Given the description of an element on the screen output the (x, y) to click on. 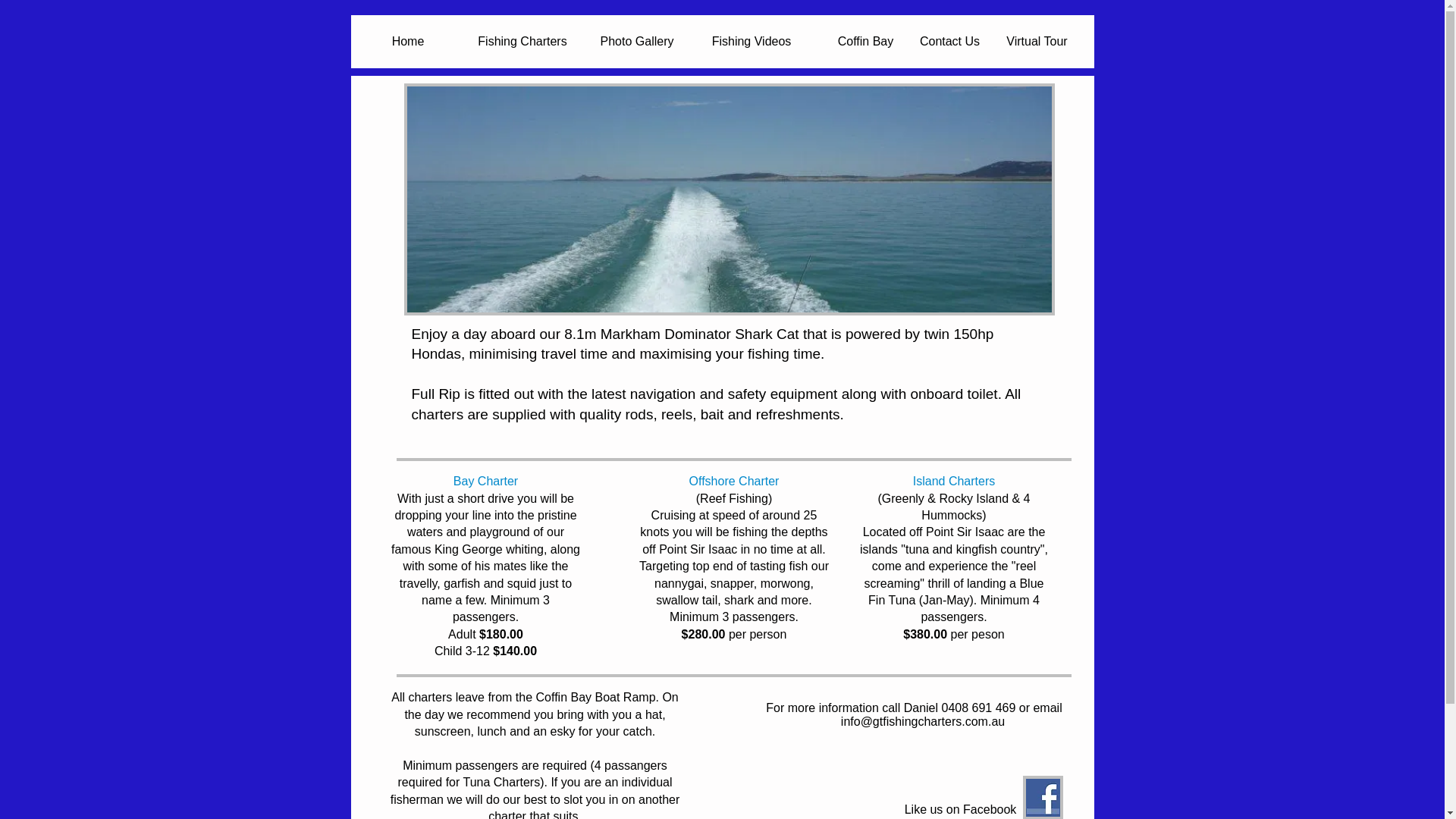
Coffin Bay Element type: text (865, 41)
Photo Gallery Element type: text (636, 41)
Fishing Videos Element type: text (751, 41)
Contact Us Element type: text (949, 41)
info@gtfishingcharters.com.au Element type: text (922, 721)
Home Element type: text (407, 41)
Virtual Tour Element type: text (1036, 41)
Fishing Charters Element type: text (522, 41)
